Given the description of an element on the screen output the (x, y) to click on. 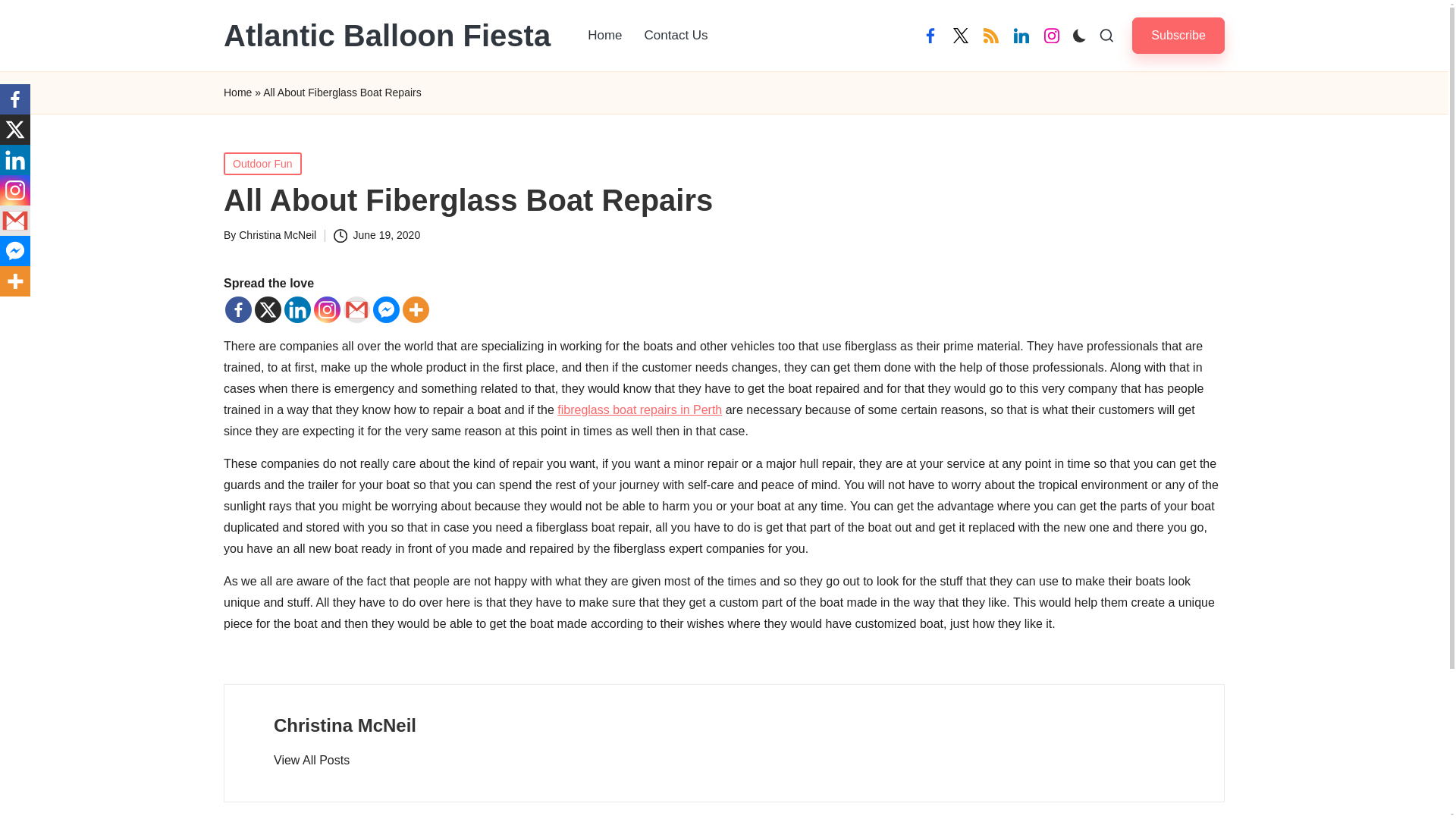
X (15, 129)
Google Gmail (15, 220)
rss.com (990, 35)
Atlantic Balloon Fiesta (387, 35)
Facebook (238, 309)
Google Gmail (356, 309)
More (15, 281)
X (267, 309)
Instagram (15, 190)
Outdoor Fun (262, 162)
